Given the description of an element on the screen output the (x, y) to click on. 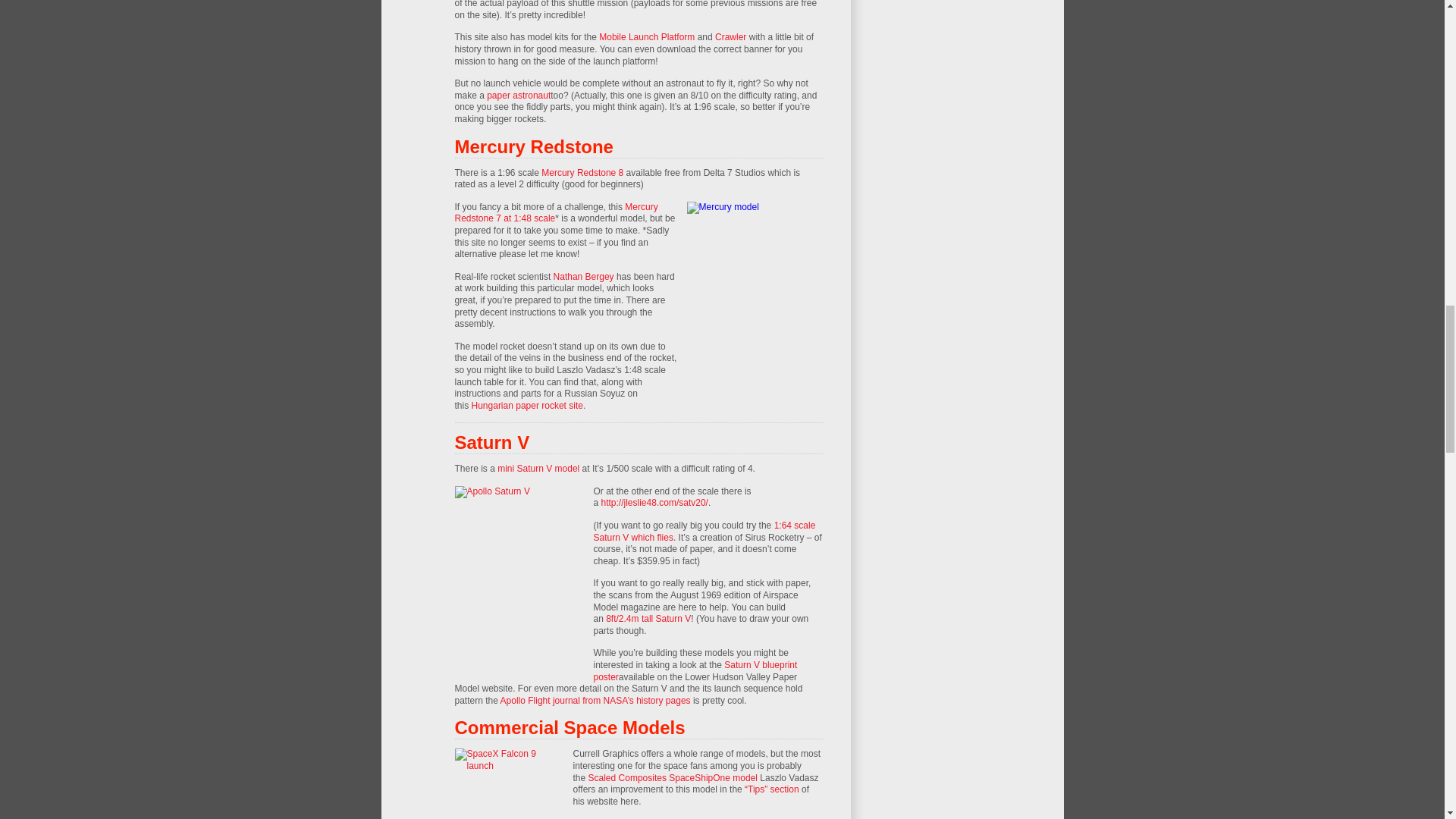
Crawler (729, 36)
Mercury Redstone 8 (582, 172)
Saturn V blueprint poster (694, 671)
1:64 scale Saturn V which flies (703, 531)
Mercury Redstone 7 at 1:48 scale (556, 212)
Scaled Composites SpaceShipOne model (672, 777)
SpaceX Falcon 9 launch (509, 783)
paper astronaut (518, 95)
mini Saturn V model (538, 468)
Nathan Bergey (583, 276)
Hungarian paper rocket site (527, 405)
Mobile Launch Platform (646, 36)
